Given the description of an element on the screen output the (x, y) to click on. 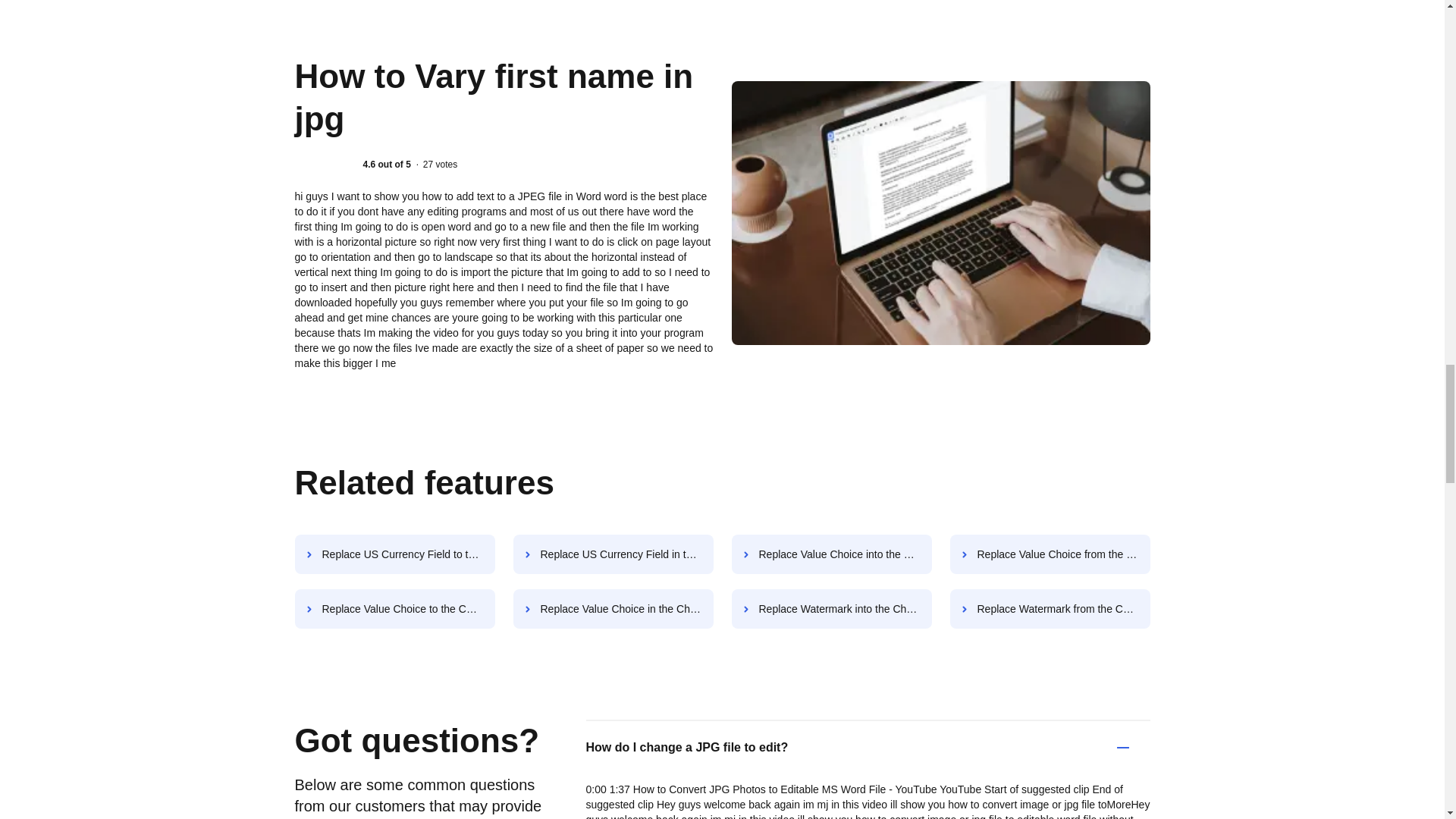
Replace Value Choice in the Change In Control Agreement (612, 608)
Replace Watermark into the Change In Control Agreement (830, 608)
Replace US Currency Field in the Change In Control Agreement (612, 554)
Replace Value Choice into the Change In Control Agreement (830, 554)
Replace US Currency Field to the Change In Control Agreement (394, 554)
Replace Value Choice to the Change In Control Agreement (394, 608)
Replace Watermark from the Change In Control Agreement (1049, 608)
Replace Value Choice from the Change In Control Agreement (1049, 554)
